Given the description of an element on the screen output the (x, y) to click on. 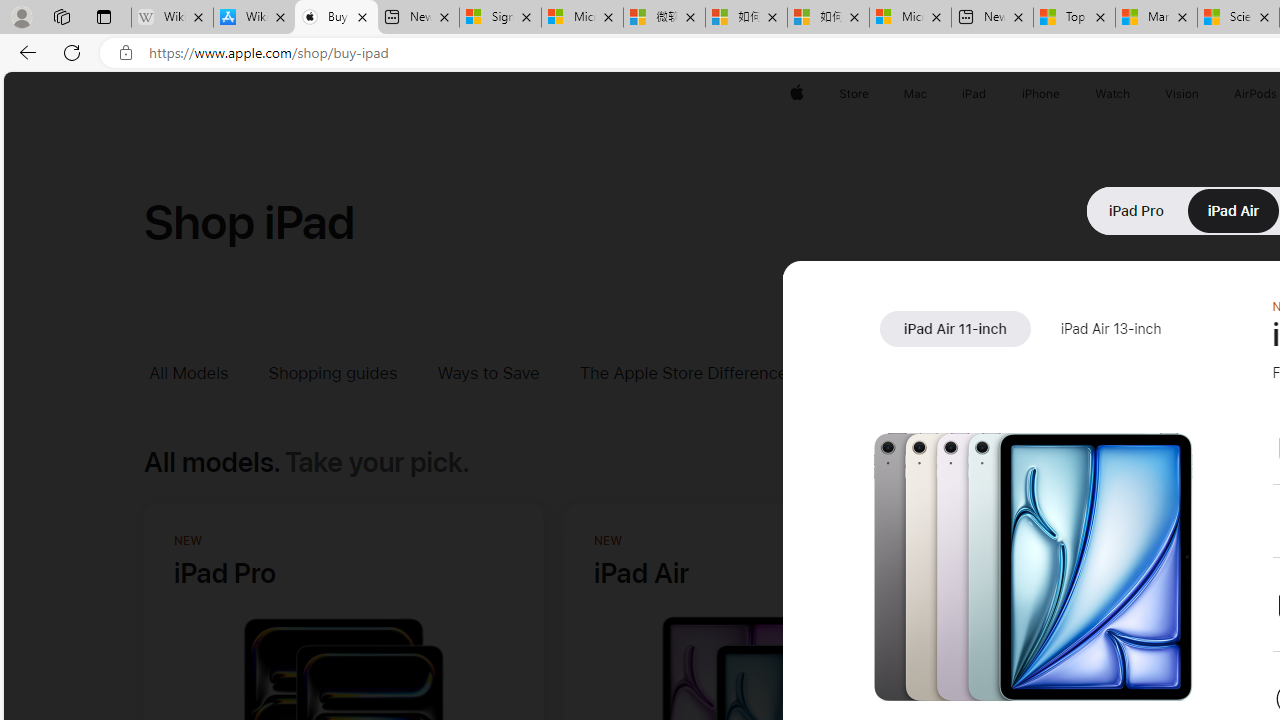
Buy iPad - Apple (336, 17)
Next (1232, 548)
Microsoft account | Account Checkup (910, 17)
iPad Pro (1135, 210)
Marine life - MSN (1156, 17)
